Given the description of an element on the screen output the (x, y) to click on. 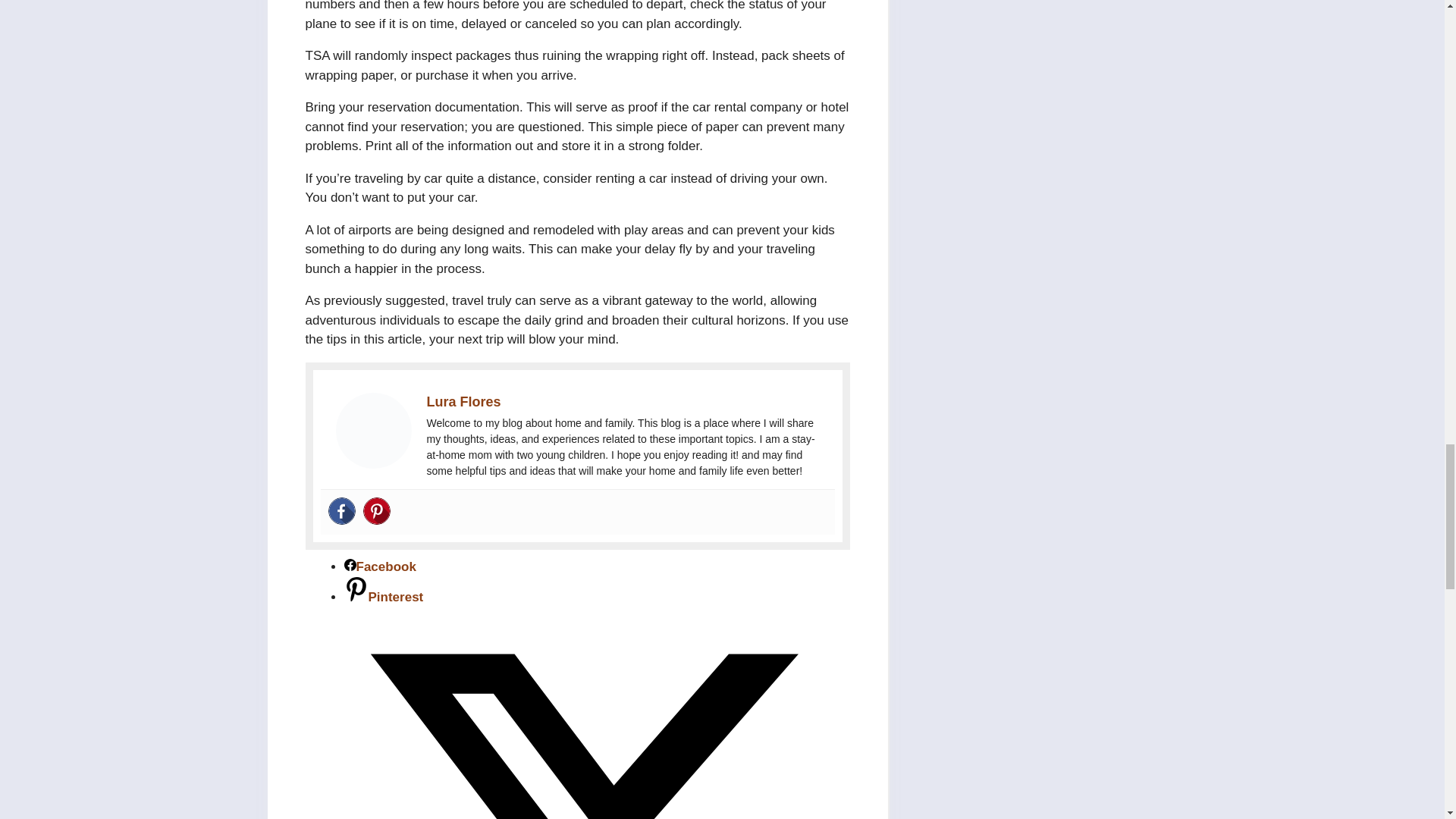
Share on Facebook (379, 566)
Facebook (341, 510)
Pinterest (376, 510)
Make The Best Of Your Travels With These Tips 2 (372, 430)
Share on Pinterest (383, 596)
